Given the description of an element on the screen output the (x, y) to click on. 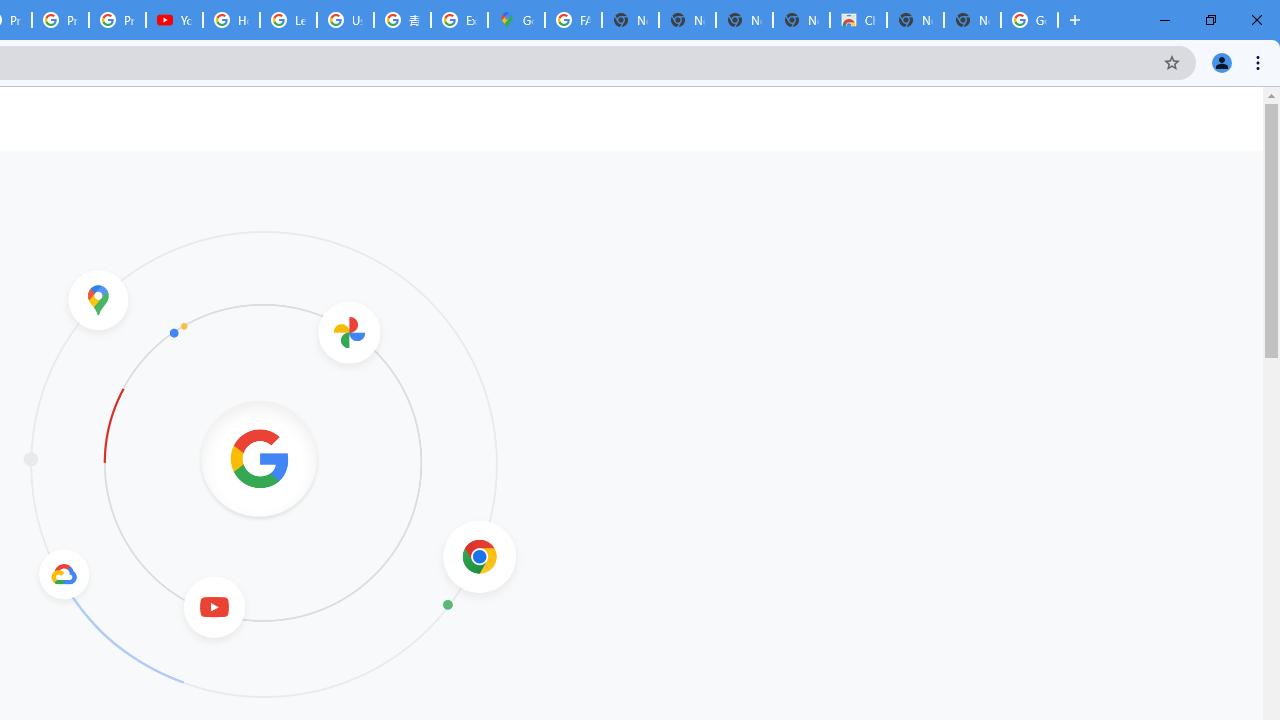
New Tab (971, 20)
Explore new street-level details - Google Maps Help (459, 20)
Privacy Checkup (60, 20)
How Chrome protects your passwords - Google Chrome Help (231, 20)
YouTube (174, 20)
Chrome Web Store (858, 20)
